Given the description of an element on the screen output the (x, y) to click on. 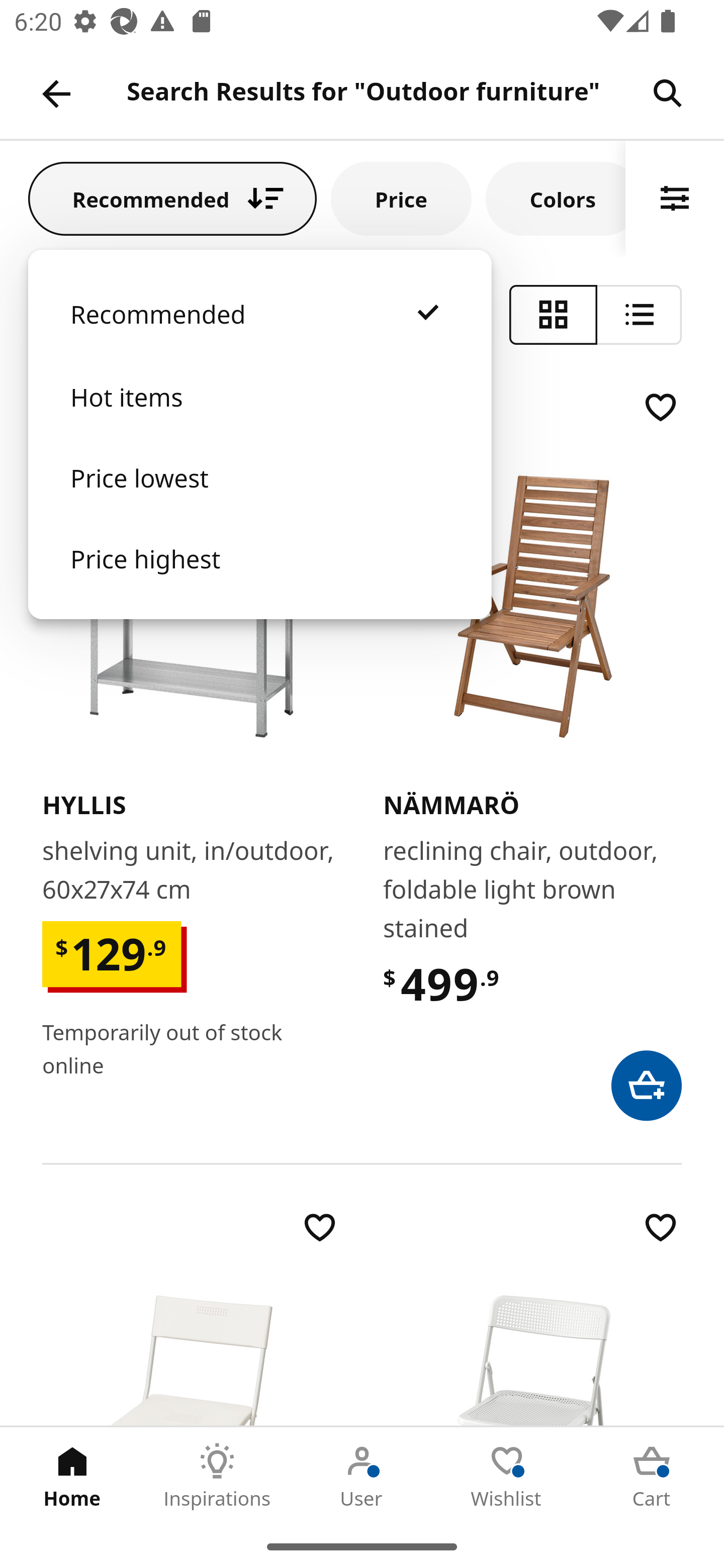
Recommended (172, 198)
Price (400, 198)
Colors (555, 198)
Recommended (259, 333)
Hot items (259, 416)
Price lowest (259, 497)
Price highest (259, 578)
Home
Tab 1 of 5 (72, 1476)
Inspirations
Tab 2 of 5 (216, 1476)
User
Tab 3 of 5 (361, 1476)
Wishlist
Tab 4 of 5 (506, 1476)
Cart
Tab 5 of 5 (651, 1476)
